Given the description of an element on the screen output the (x, y) to click on. 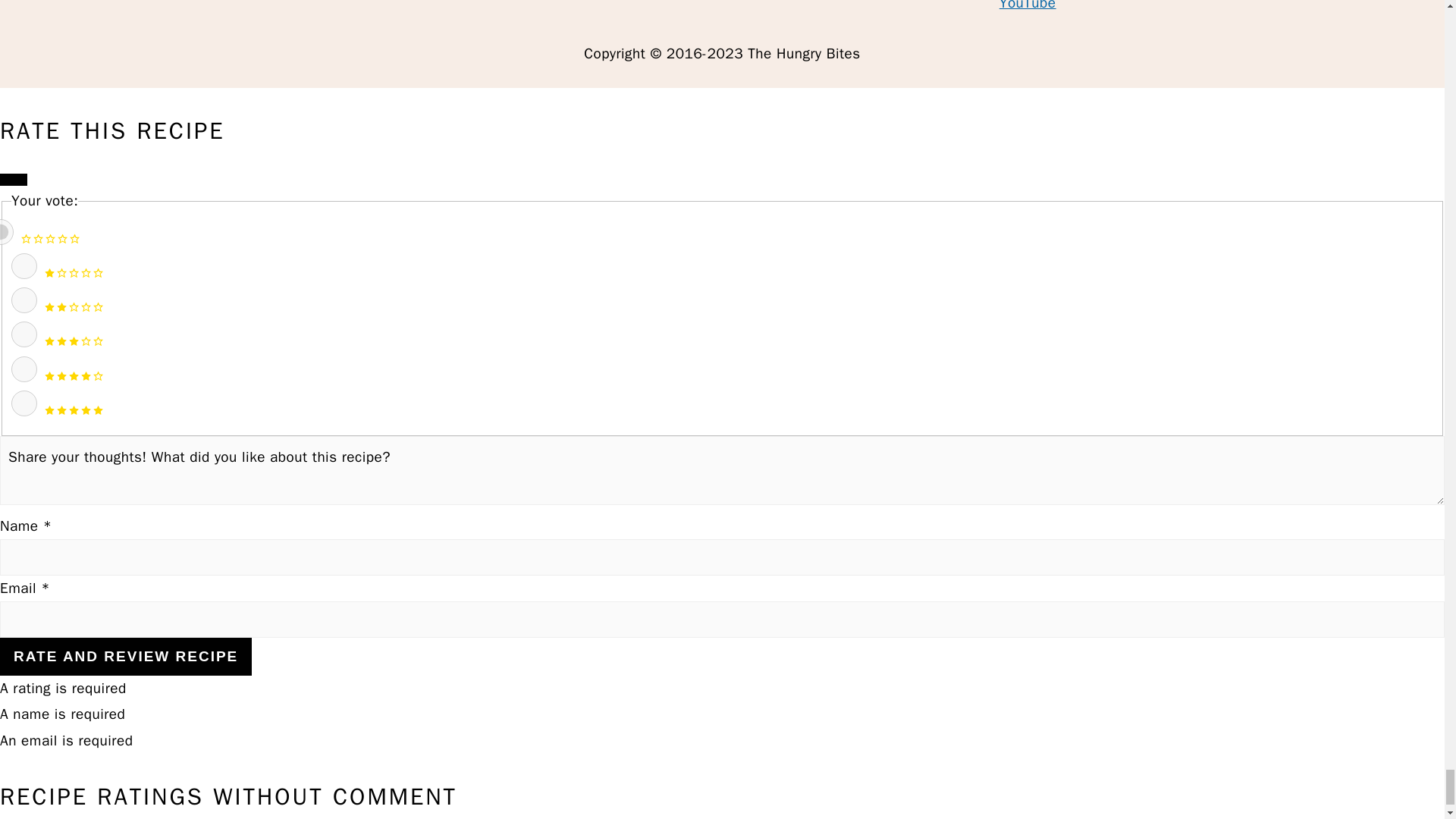
2 (24, 299)
4 (24, 368)
5 (24, 403)
3 (24, 334)
1 (24, 266)
